Given the description of an element on the screen output the (x, y) to click on. 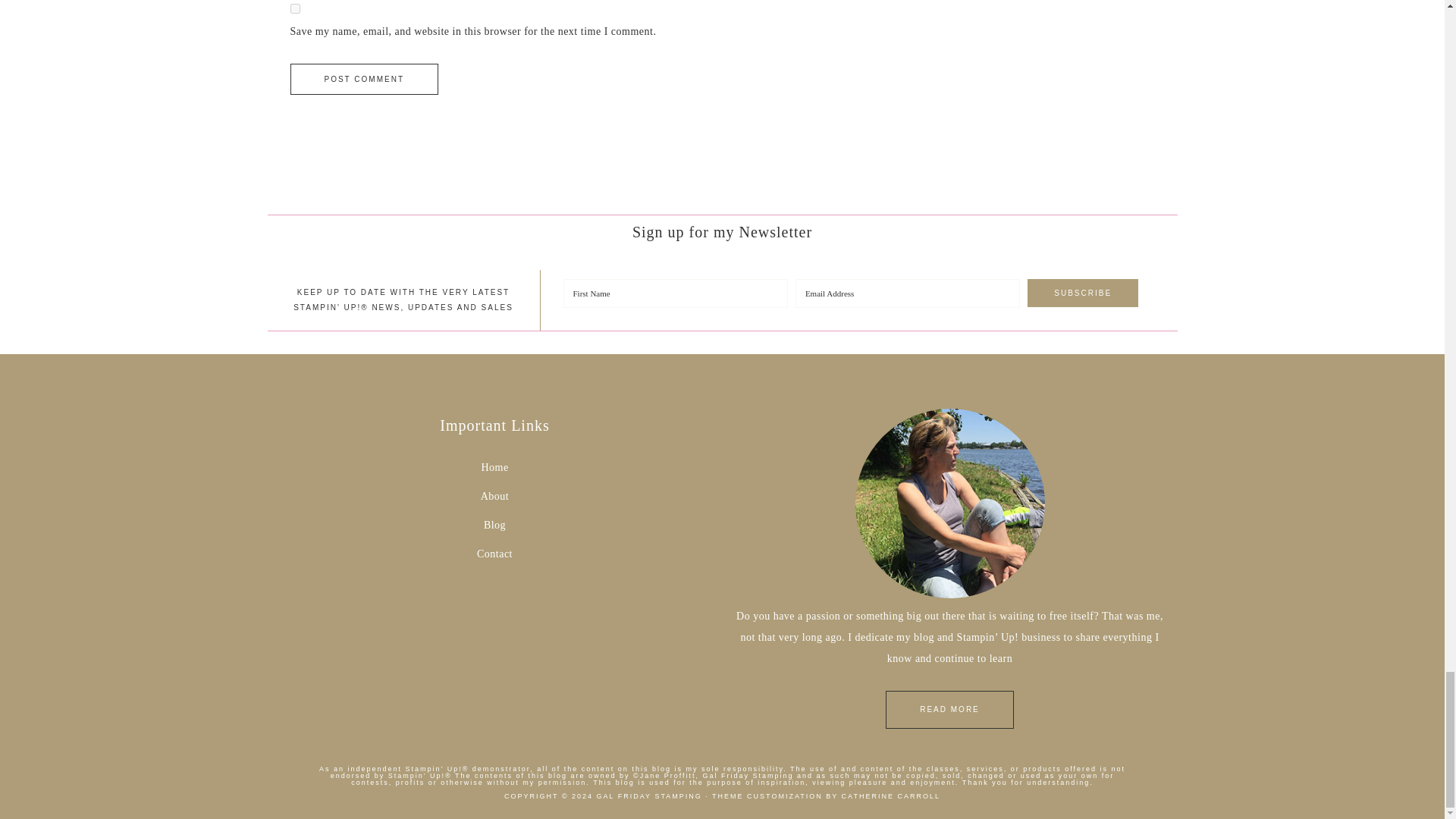
Post Comment (363, 79)
Post Comment (363, 79)
yes (294, 8)
Subscribe (1082, 293)
